Given the description of an element on the screen output the (x, y) to click on. 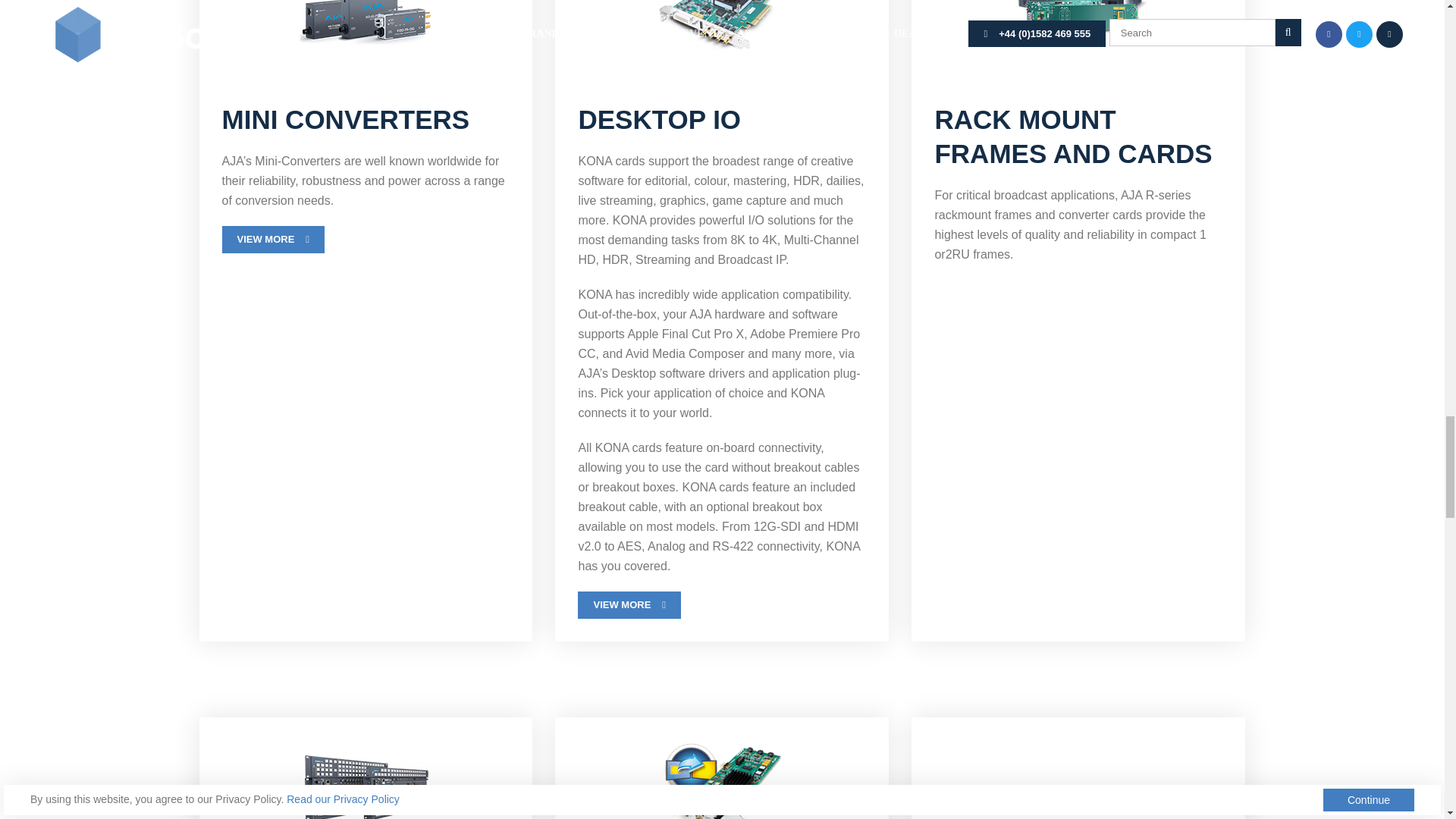
VIEW MORE (272, 239)
VIEW MORE (629, 605)
